Given the description of an element on the screen output the (x, y) to click on. 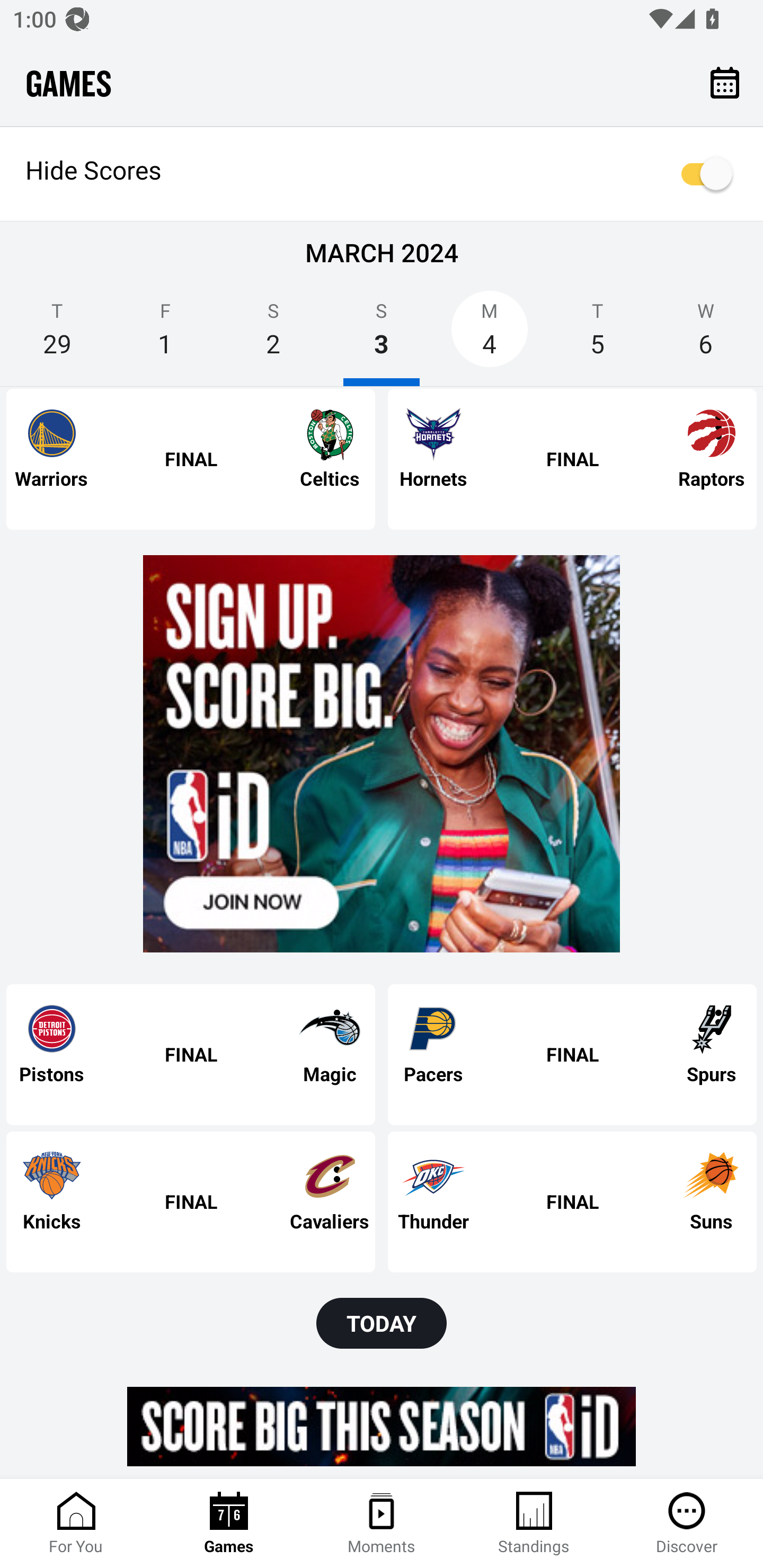
Calendar (724, 81)
Hide Scores (381, 174)
T 29 (57, 334)
F 1 (165, 334)
S 2 (273, 334)
S 3 (381, 334)
M 4 (489, 334)
T 5 (597, 334)
W 6 (705, 334)
Post Game - Pistons at Magic Pistons FINAL Magic (190, 1054)
Post Game - Pacers at Spurs Pacers FINAL Spurs (571, 1054)
Post Game - Thunder at Suns Thunder FINAL Suns (571, 1201)
TODAY (381, 1323)
For You (76, 1523)
Moments (381, 1523)
Standings (533, 1523)
Discover (686, 1523)
